Given the description of an element on the screen output the (x, y) to click on. 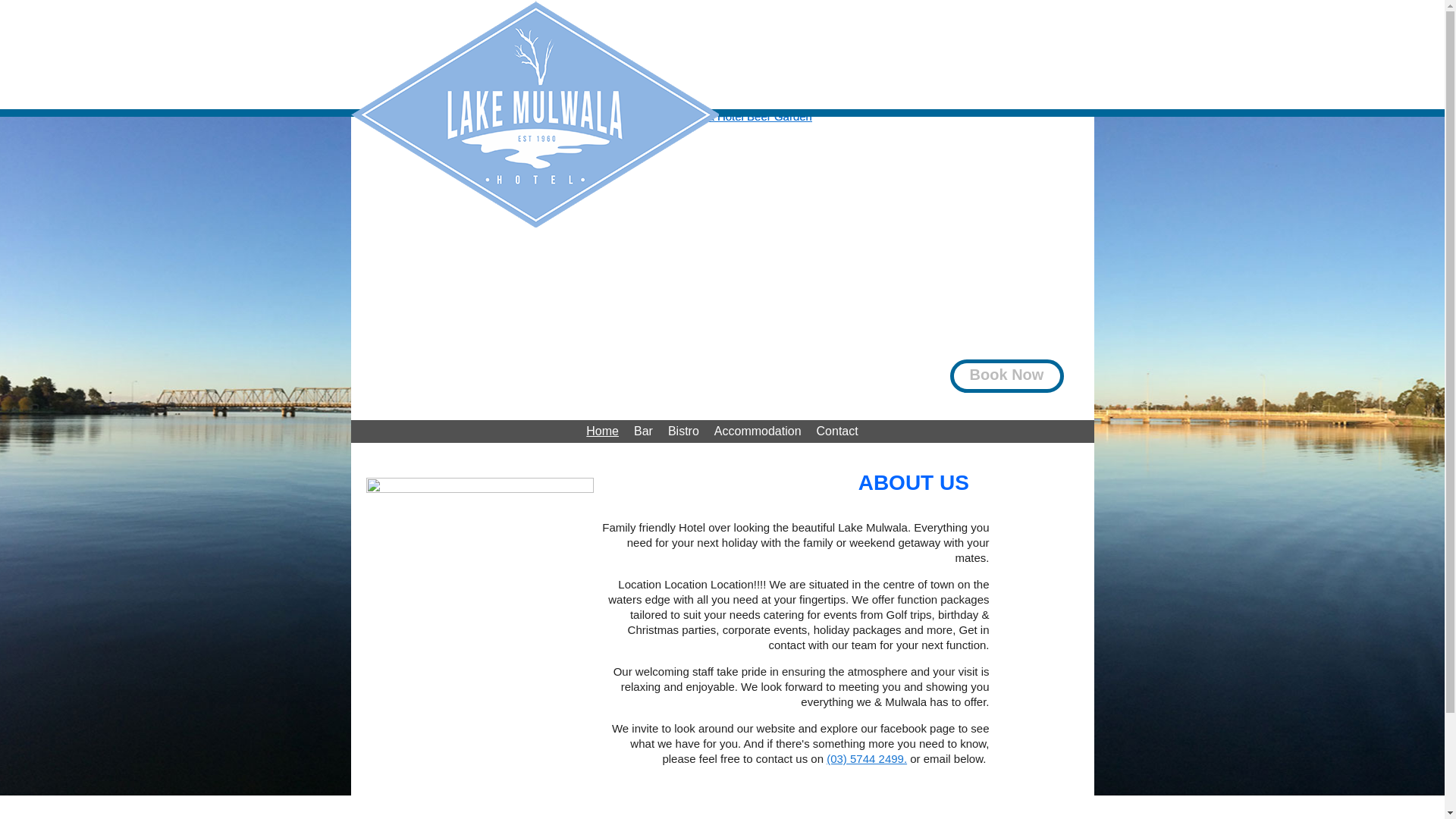
Bistro Element type: text (683, 430)
Bar Element type: text (642, 430)
Lake Mulwala Hotel Element type: hover (534, 113)
Book Now Element type: text (1002, 375)
Accommodation Element type: text (757, 430)
(03) 5744 2499. Element type: text (866, 758)
Lake Mulwala Hotel Beer Garden Element type: hover (722, 122)
Contact Element type: text (837, 430)
Home Element type: text (602, 430)
